Given the description of an element on the screen output the (x, y) to click on. 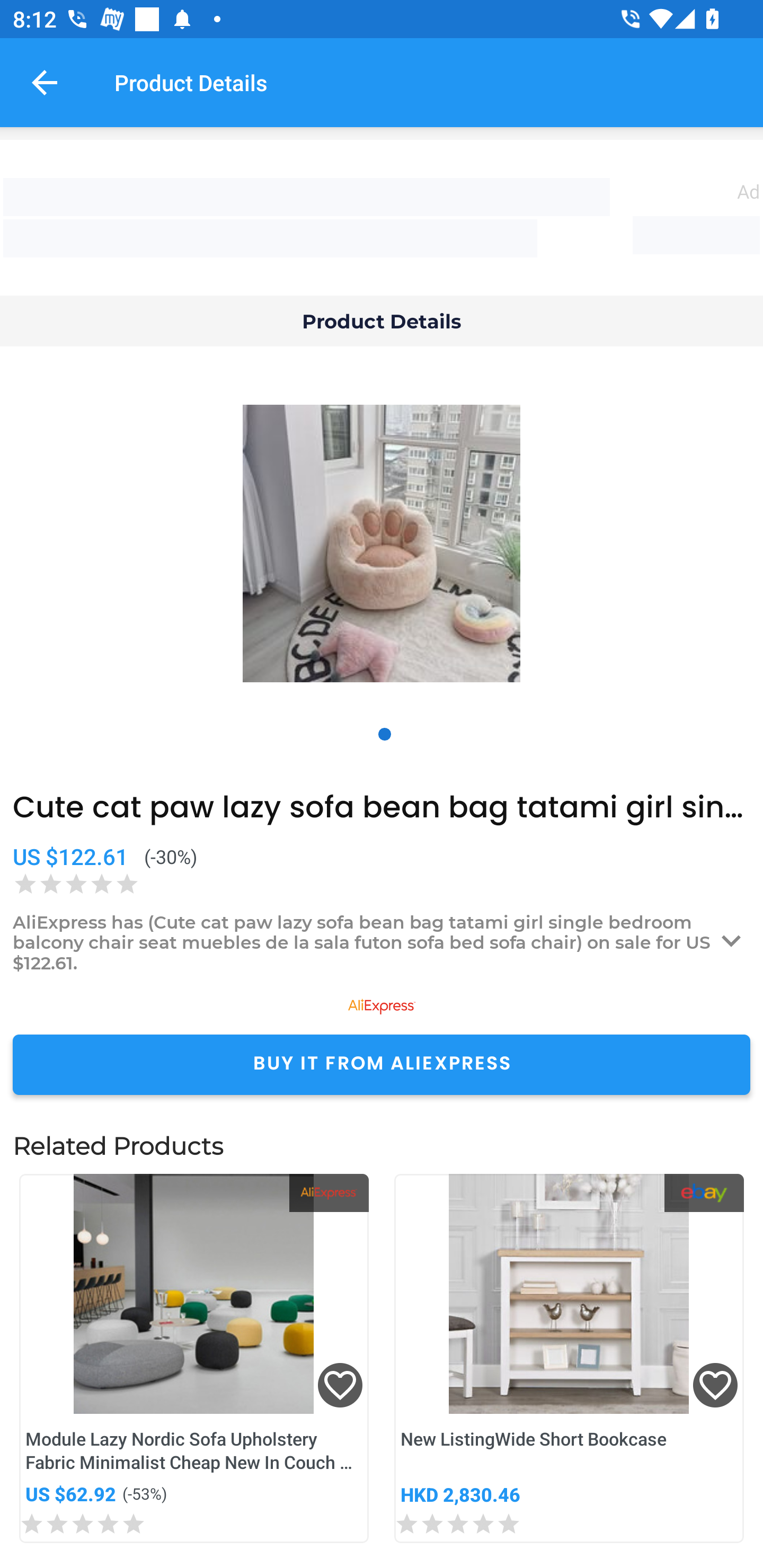
Navigate up (44, 82)
BUY IT FROM ALIEXPRESS (381, 1064)
New ListingWide Short Bookcase HKD 2,830.46 0.0 (568, 1358)
